Given the description of an element on the screen output the (x, y) to click on. 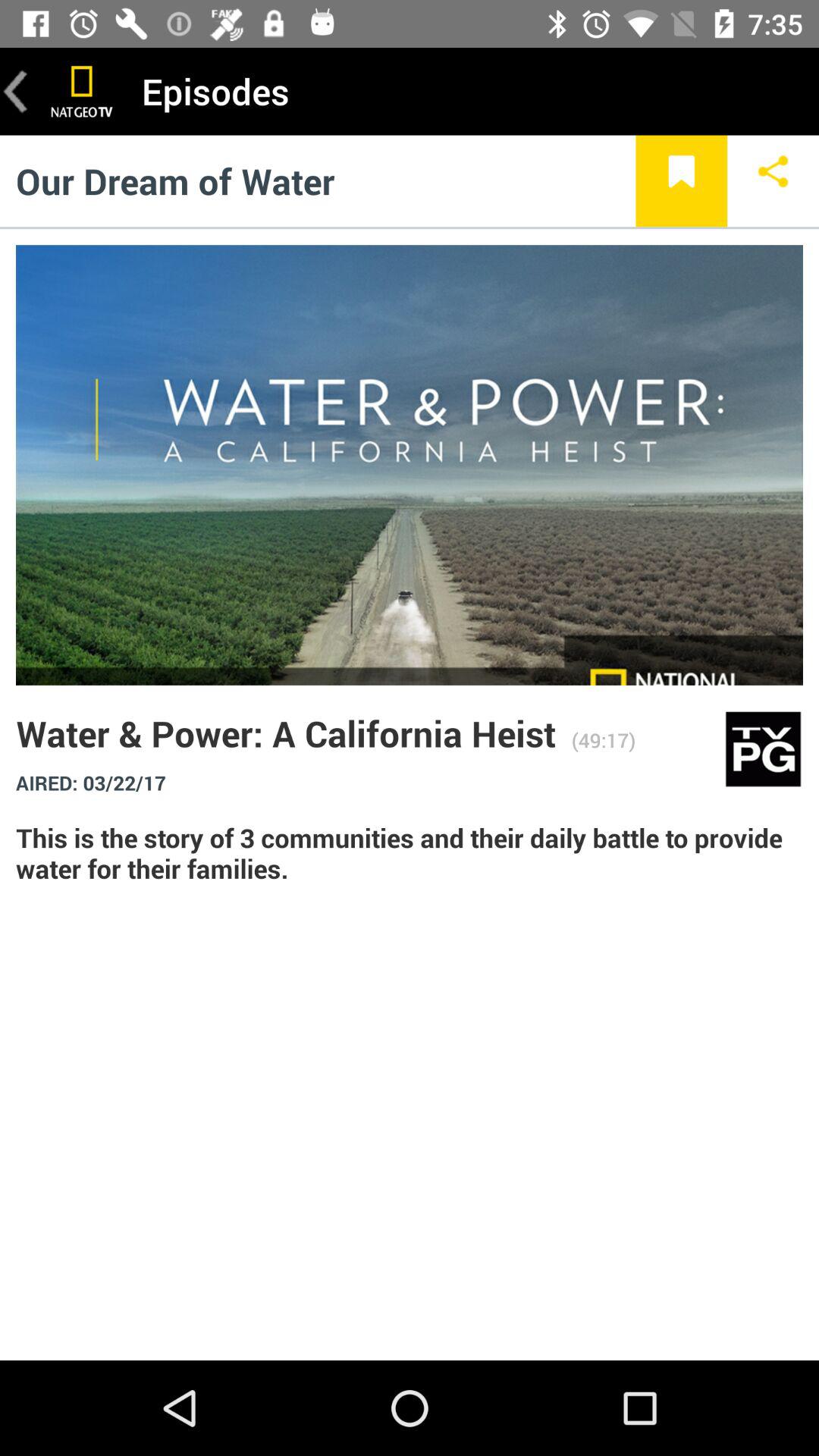
open the icon next to the episodes icon (81, 91)
